Given the description of an element on the screen output the (x, y) to click on. 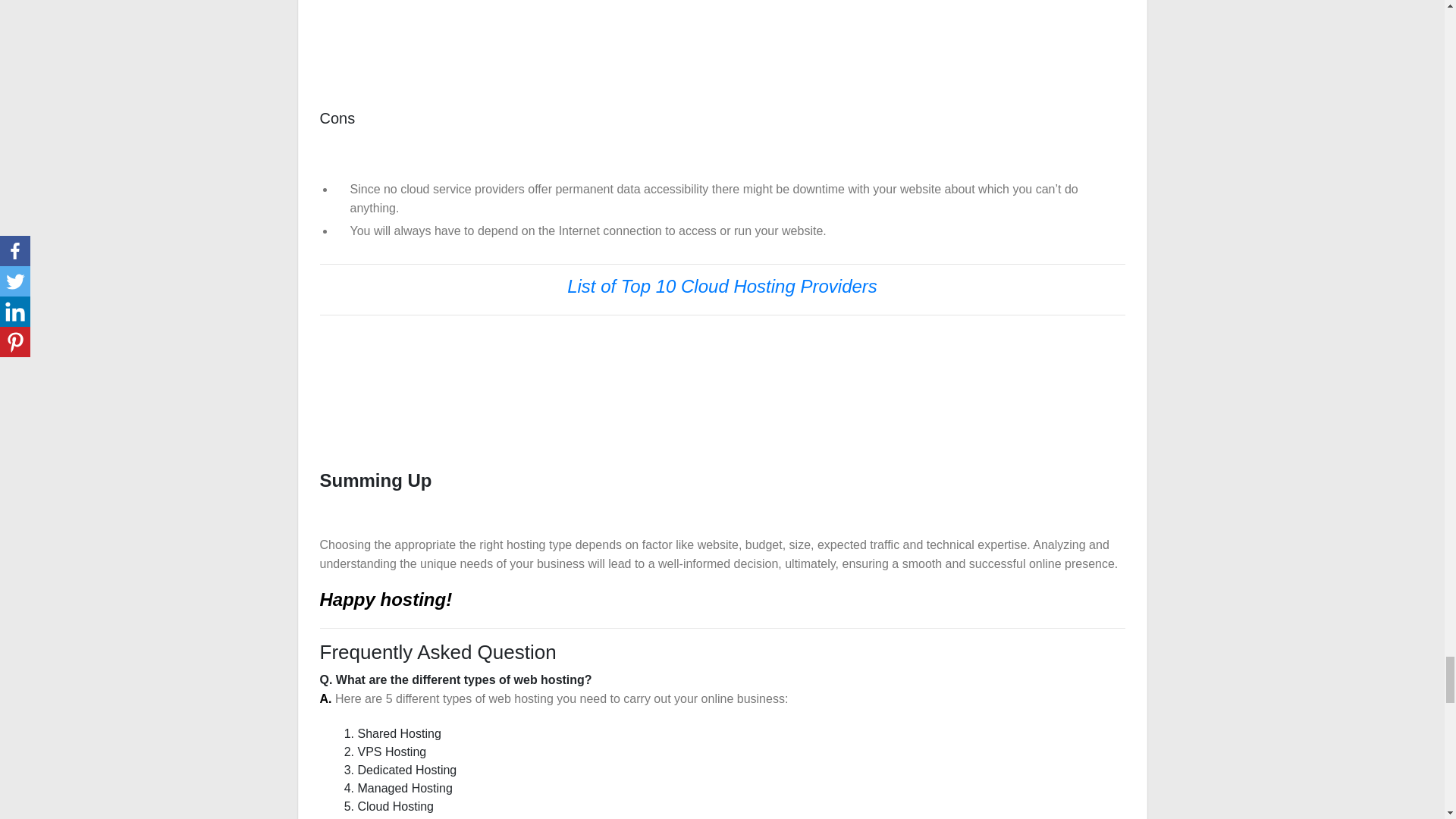
List of Top 10 Cloud Hosting Providers (722, 287)
